Given the description of an element on the screen output the (x, y) to click on. 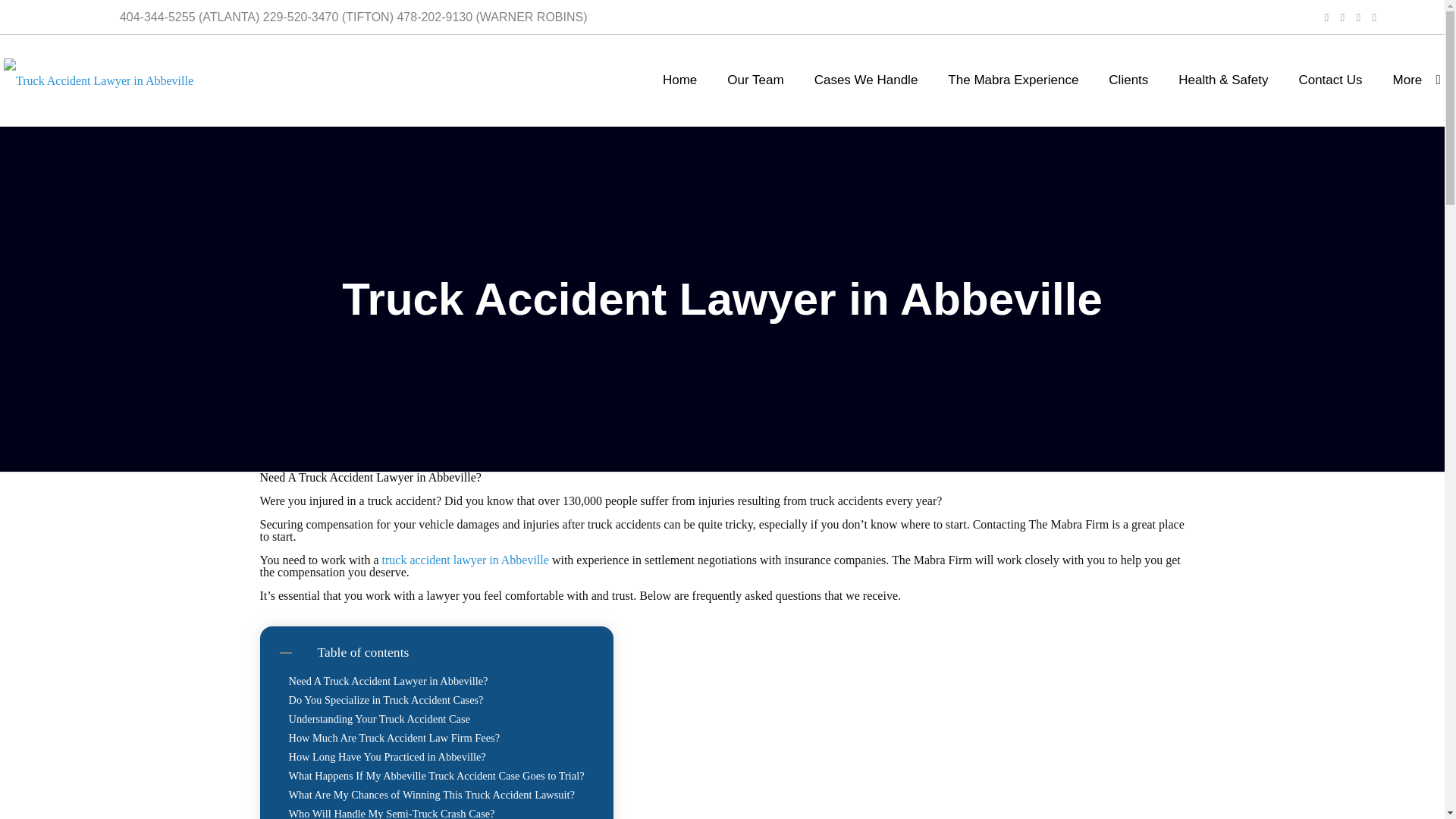
478-202-9130 (433, 16)
Need A Truck Accident Lawyer in Abbeville? (387, 680)
How Much Are Truck Accident Law Firm Fees? (393, 738)
Facebook (1326, 17)
The Mabra Firm (98, 80)
229-520-3470 (301, 16)
Understanding Your Truck Accident Case (378, 718)
Our Team (754, 80)
How Long Have You Practiced in Abbeville? (386, 757)
What Are My Chances of Winning This Truck Accident Lawsuit? (430, 794)
Do You Specialize in Truck Accident Cases? (385, 699)
Need A Truck Accident Lawyer in Abbeville? (387, 680)
Understanding Your Truck Accident Case (378, 718)
How Much Are Truck Accident Law Firm Fees? (393, 738)
Do You Specialize in Truck Accident Cases? (385, 699)
